Given the description of an element on the screen output the (x, y) to click on. 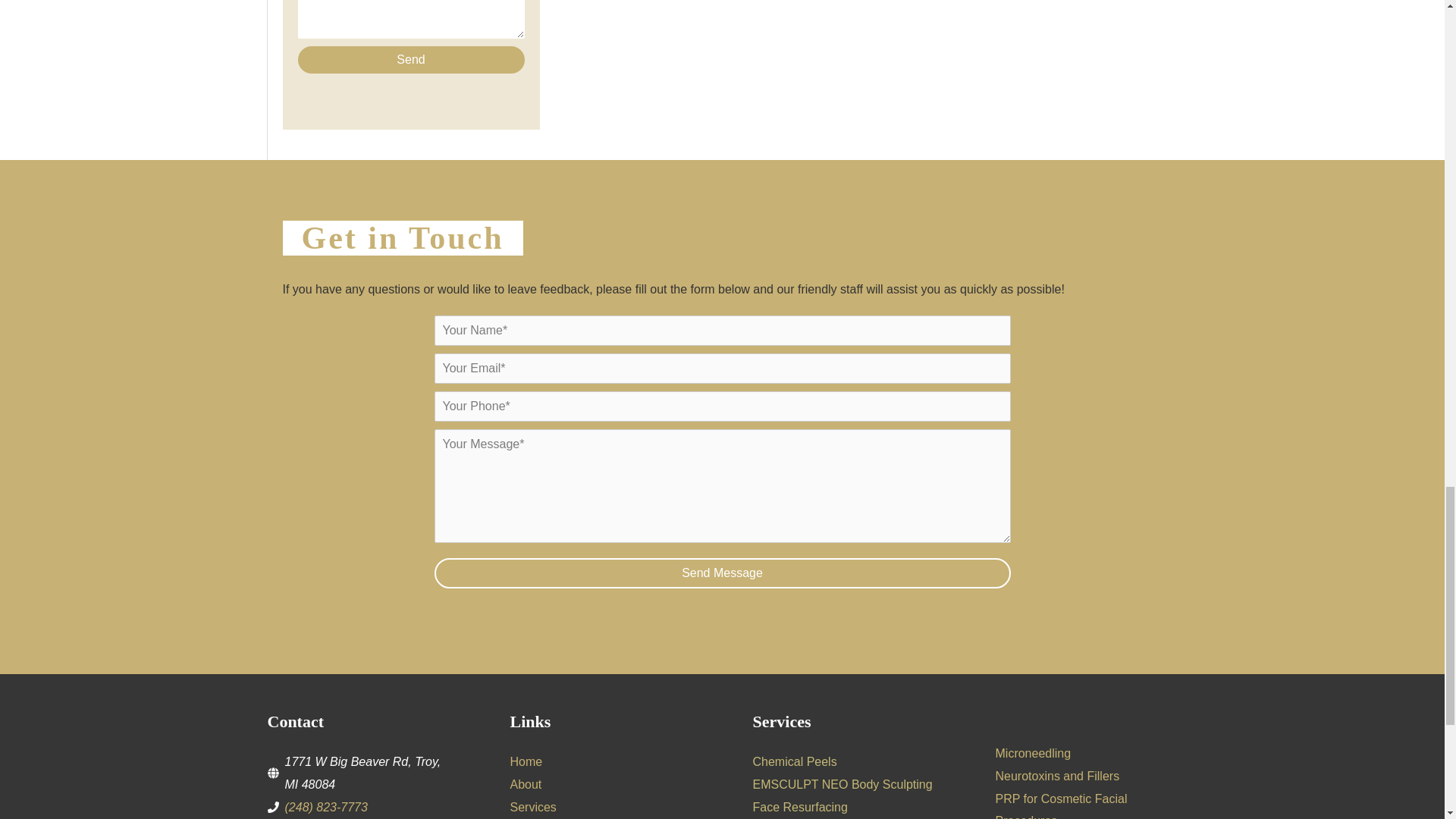
Send (410, 59)
Send Message (721, 572)
